Given the description of an element on the screen output the (x, y) to click on. 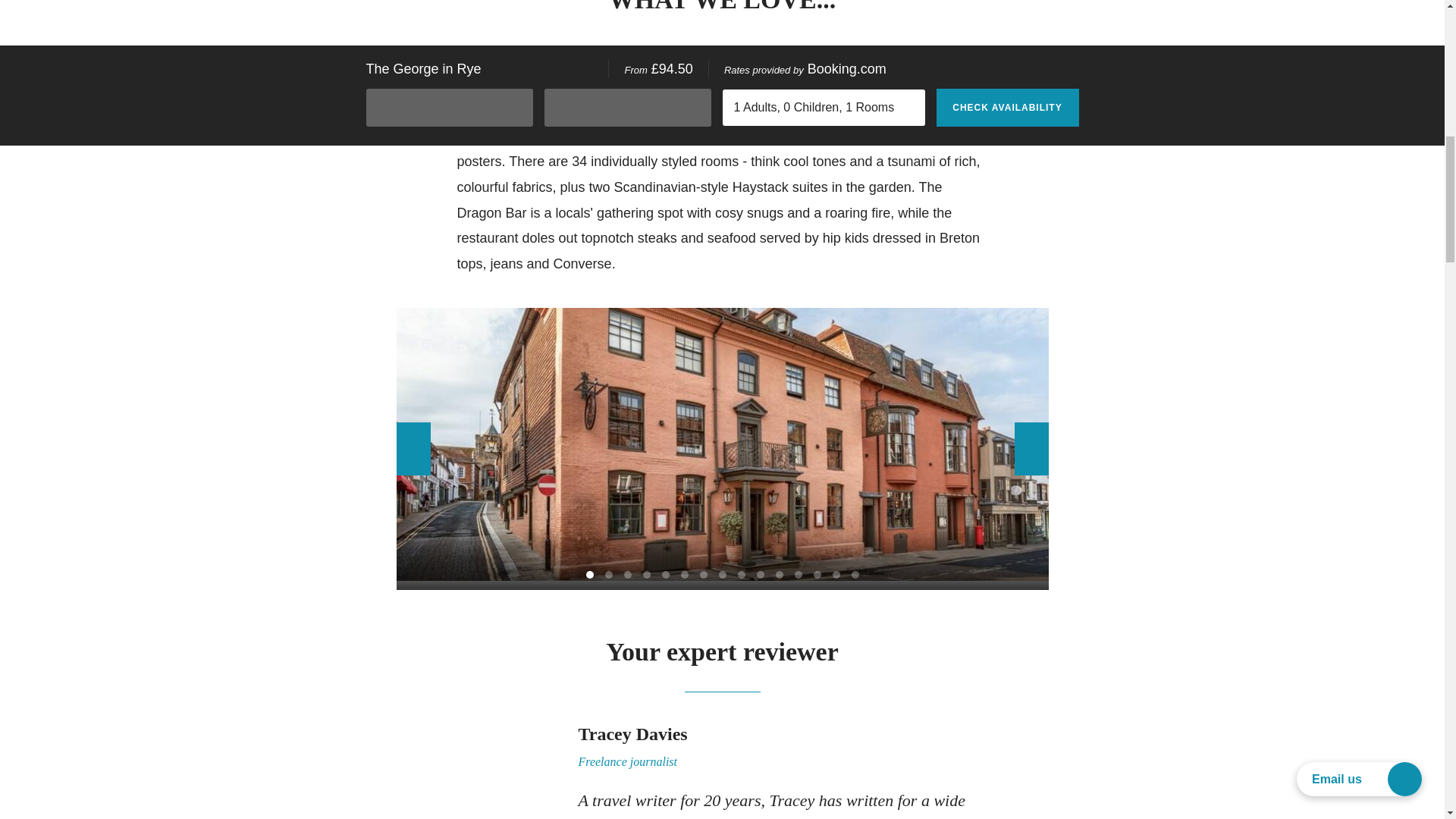
2 (608, 574)
5 (664, 574)
1 (588, 574)
7 (702, 574)
6 (684, 574)
3 (626, 574)
9 (740, 574)
4 (646, 574)
8 (722, 574)
